Given the description of an element on the screen output the (x, y) to click on. 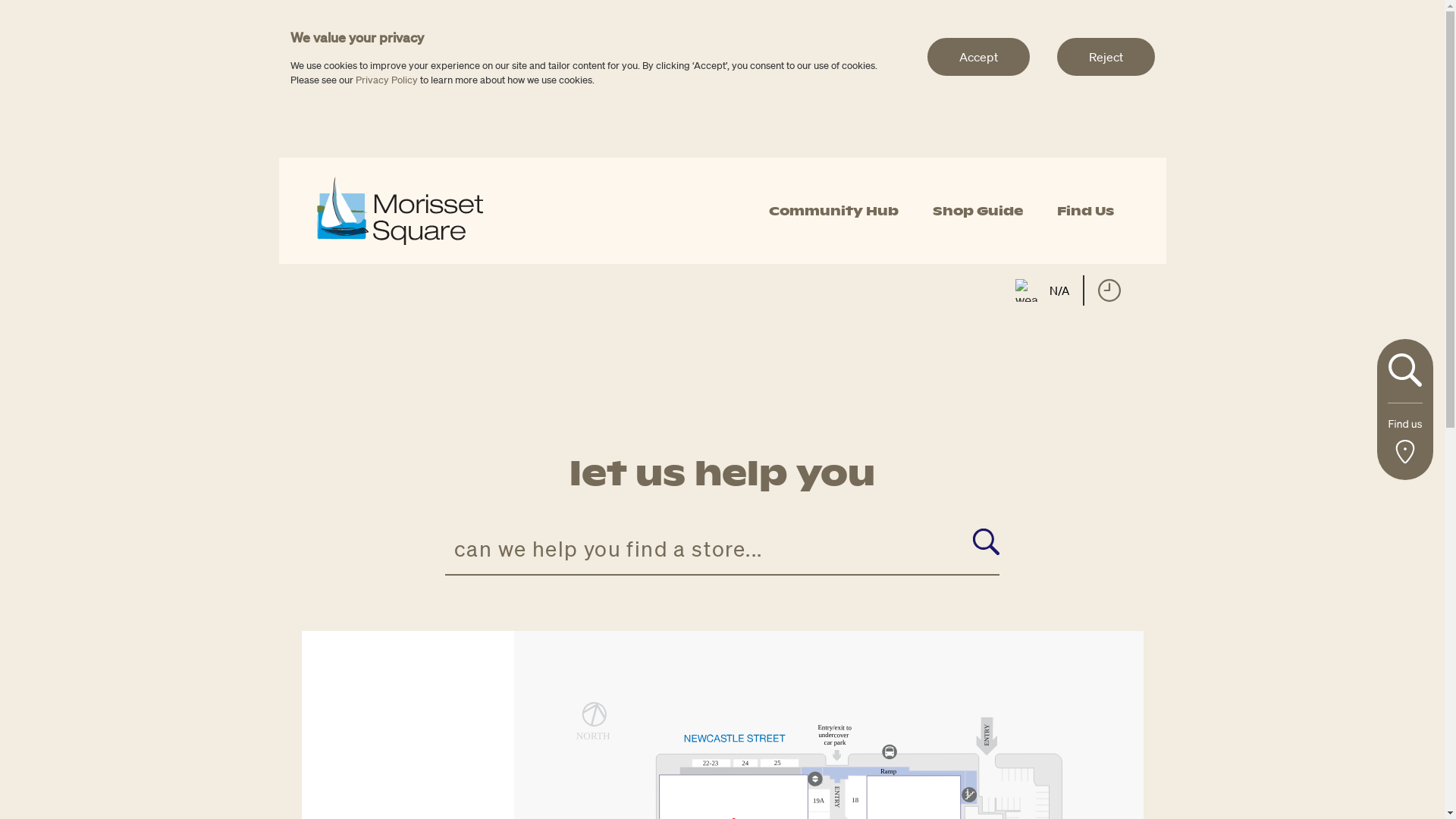
Community Hub Element type: text (833, 211)
Accept Element type: text (977, 56)
Privacy Policy Element type: text (385, 79)
time Element type: hover (1109, 290)
Find Us Element type: text (1085, 211)
Shop Guide Element type: text (977, 211)
Reject Element type: text (1105, 56)
